Given the description of an element on the screen output the (x, y) to click on. 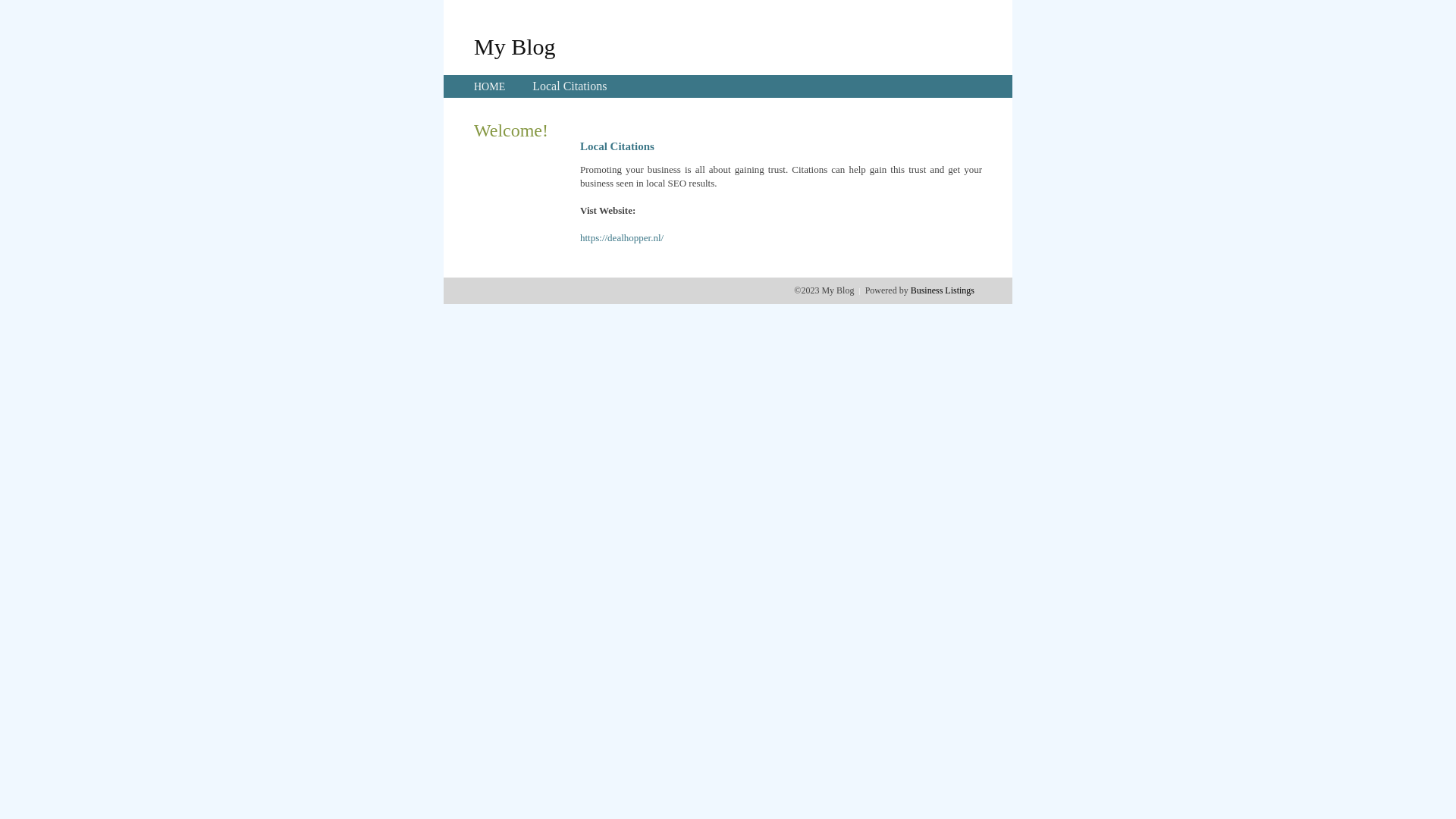
Local Citations Element type: text (569, 85)
https://dealhopper.nl/ Element type: text (621, 237)
Business Listings Element type: text (942, 290)
My Blog Element type: text (514, 46)
HOME Element type: text (489, 86)
